Given the description of an element on the screen output the (x, y) to click on. 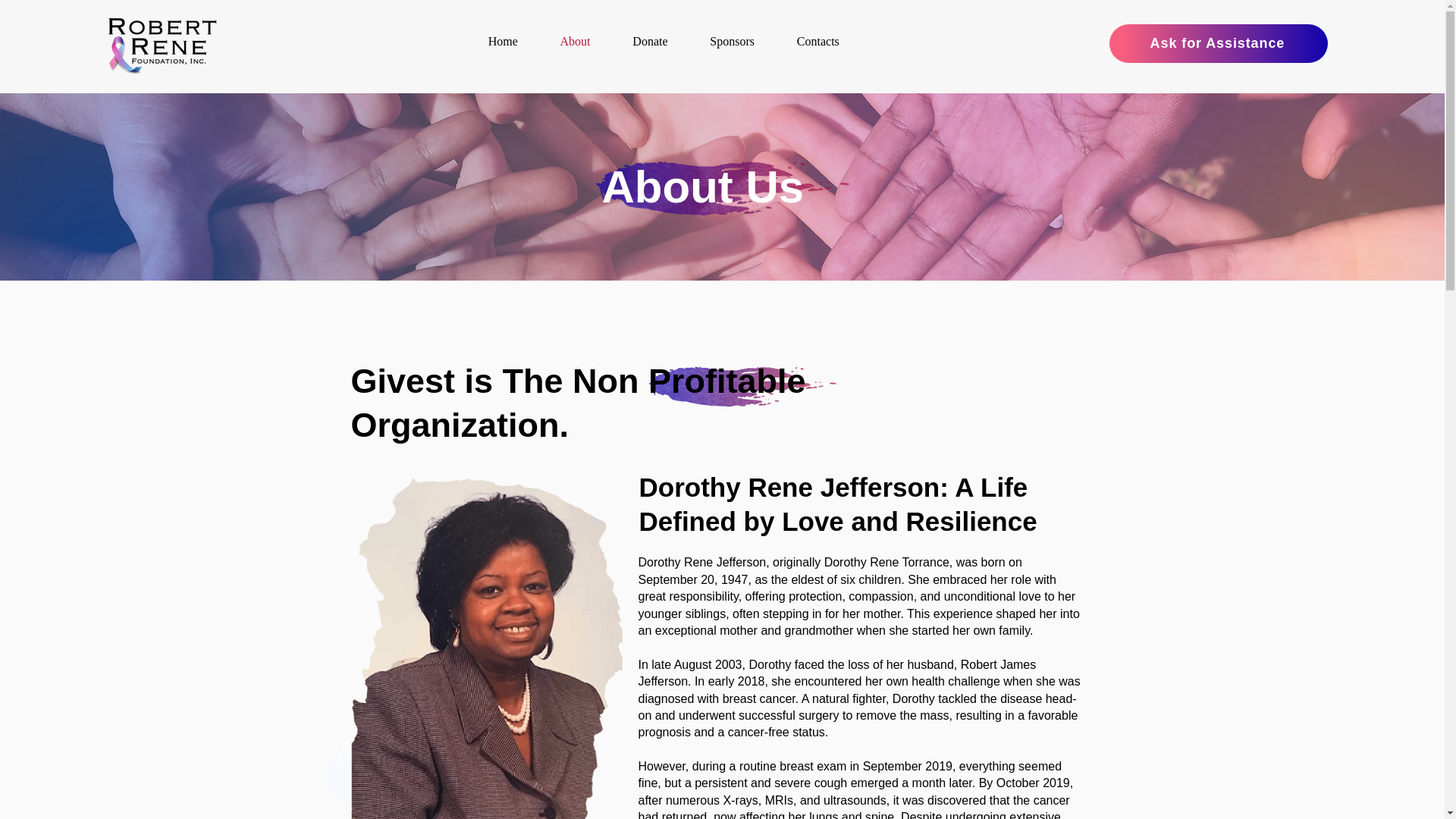
updated icon.webp (162, 43)
Home (502, 41)
About (574, 41)
Ask for Assistance (1218, 43)
banner-title-shape.png (721, 188)
Sponsors (731, 41)
banner-title-shape.png (742, 386)
Donate (649, 41)
Contacts (817, 41)
